Given the description of an element on the screen output the (x, y) to click on. 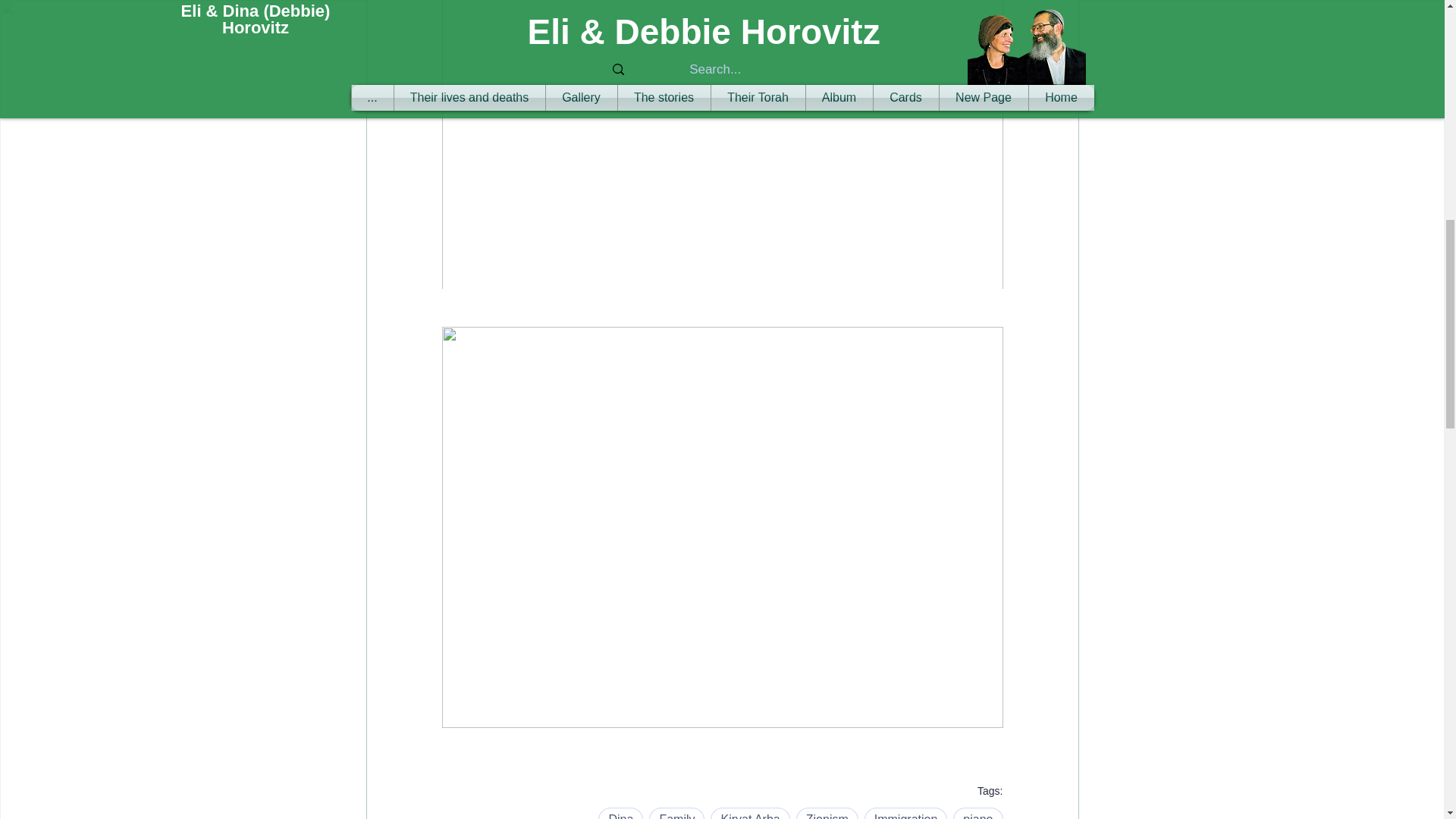
Zionism (827, 813)
Dina (620, 813)
Family (676, 813)
Kiryat Arba (749, 813)
Immigration (905, 813)
piano (978, 813)
